Given the description of an element on the screen output the (x, y) to click on. 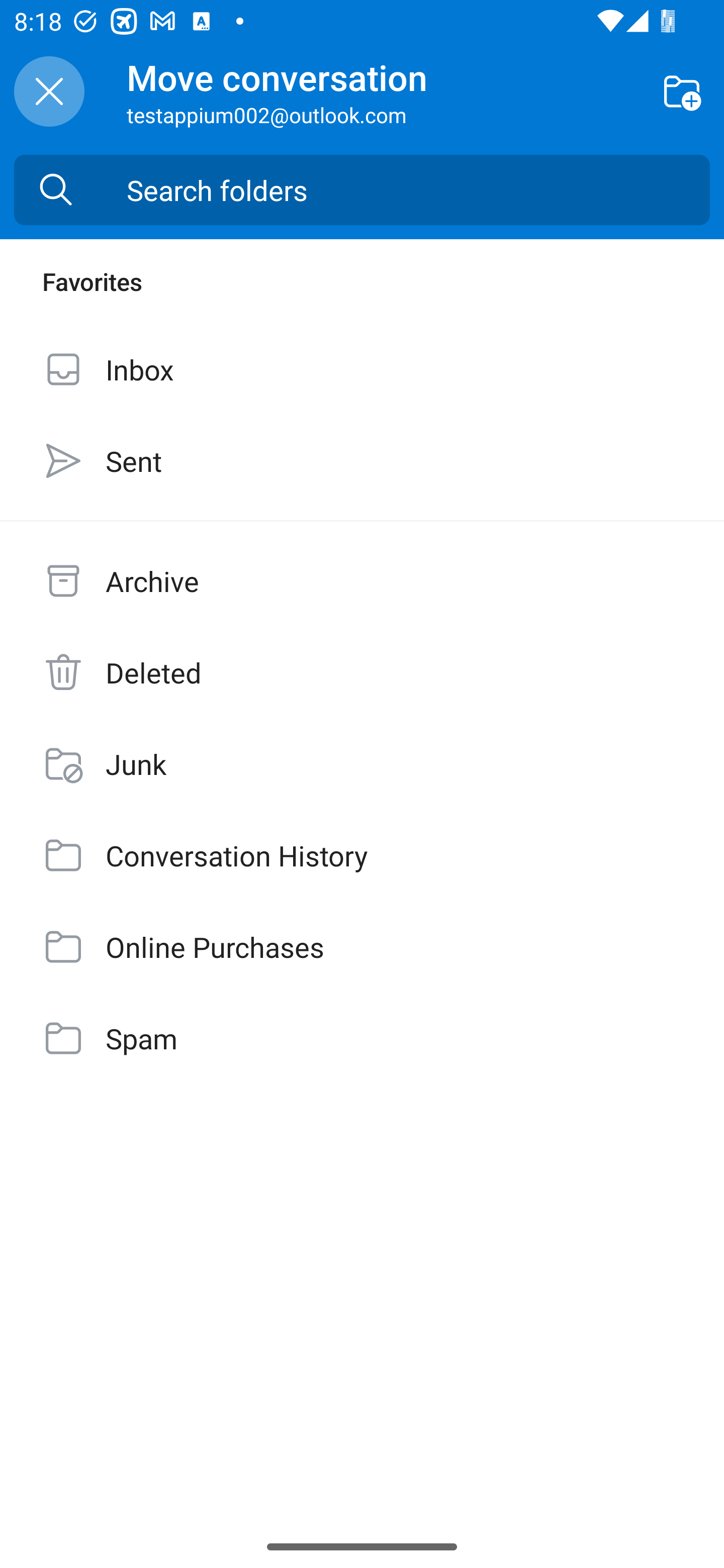
Move conversation, Cancel (49, 91)
Create new folder (681, 90)
Search folders (418, 190)
Inbox (362, 369)
Sent (362, 460)
Archive (362, 580)
Deleted (362, 672)
Junk (362, 763)
Conversation History (362, 855)
Online Purchases (362, 946)
Spam (362, 1037)
